Given the description of an element on the screen output the (x, y) to click on. 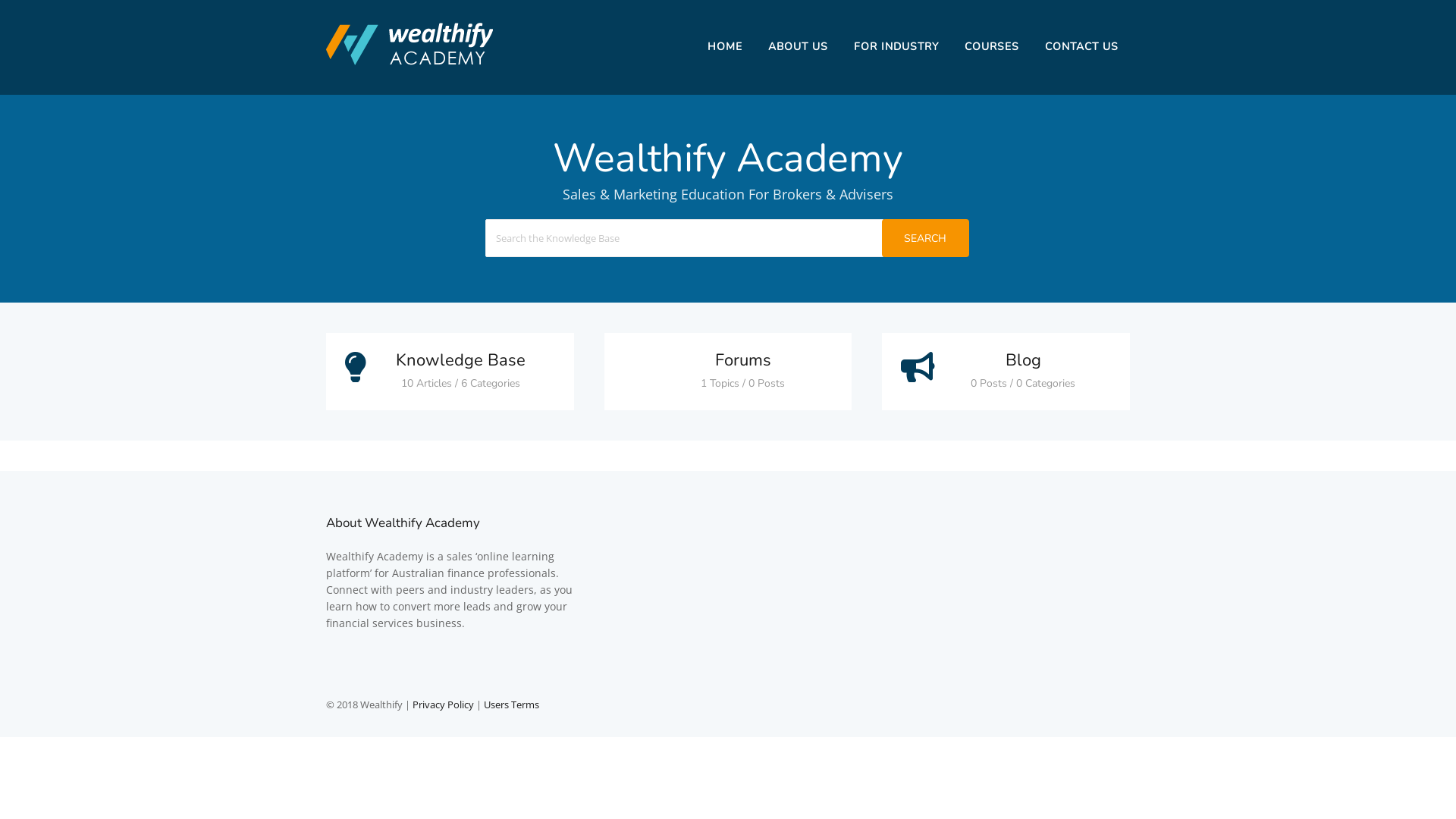
Users Terms Element type: text (511, 704)
CONTACT US Element type: text (1081, 46)
FOR INDUSTRY Element type: text (896, 46)
Privacy Policy Element type: text (442, 704)
Knowledge Base
10 Articles / 6 Categories Element type: text (450, 371)
Wealthify Academy Element type: hover (409, 65)
HOME Element type: text (724, 46)
ABOUT US Element type: text (797, 46)
SEARCH Element type: text (925, 238)
Blog
0 Posts / 0 Categories Element type: text (1005, 371)
COURSES Element type: text (991, 46)
Forums
1 Topics / 0 Posts Element type: text (728, 371)
